Given the description of an element on the screen output the (x, y) to click on. 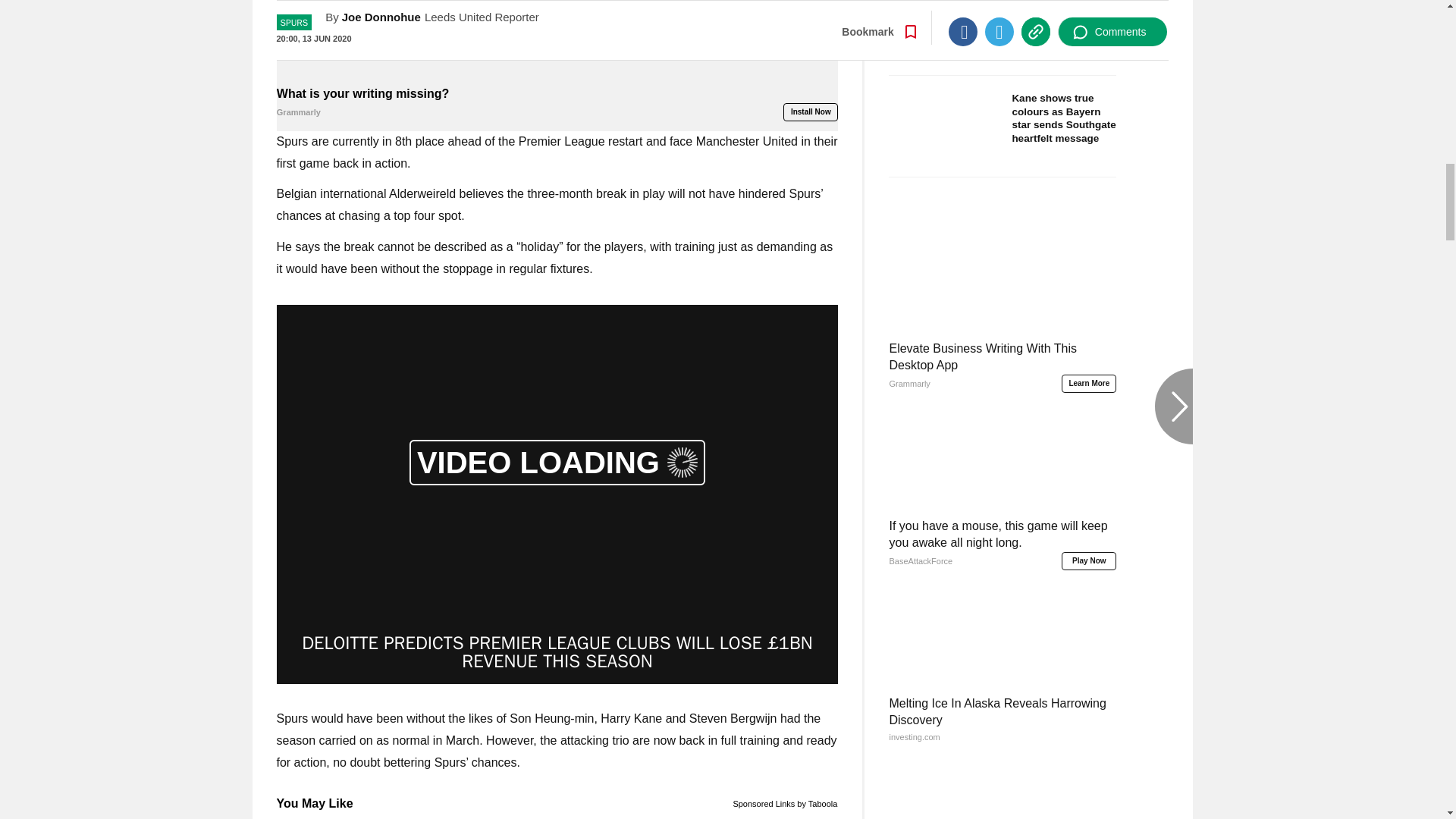
What is your writing missing? (557, 40)
